Given the description of an element on the screen output the (x, y) to click on. 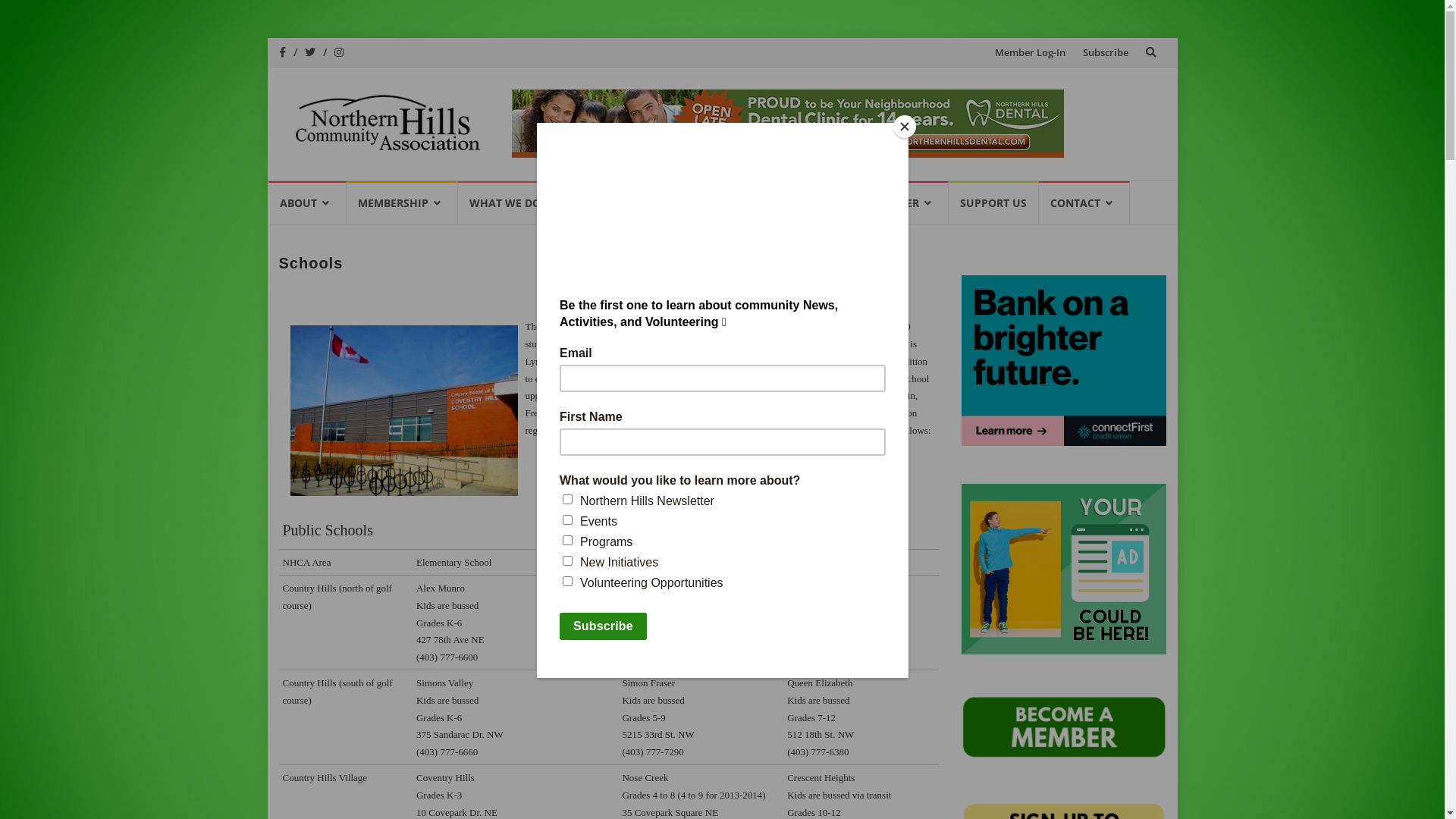
Subscribe Element type: text (1105, 52)
VOLUNTEER Element type: text (896, 201)
SUPPORT US Element type: text (992, 201)
Calgary Schools Element type: hover (403, 410)
Skip to content Element type: text (985, 37)
CBE website Element type: text (648, 412)
ABOUT Element type: text (307, 201)
EVENTS Element type: text (610, 201)
Skip to content Element type: text (266, 180)
CONTACT Element type: text (1083, 201)
MEMBERSHIP Element type: text (401, 201)
BUSINESS INFO Element type: text (782, 201)
NEWS Element type: text (686, 201)
Member Log-In Element type: text (1029, 52)
WHAT WE DO Element type: text (514, 201)
